Given the description of an element on the screen output the (x, y) to click on. 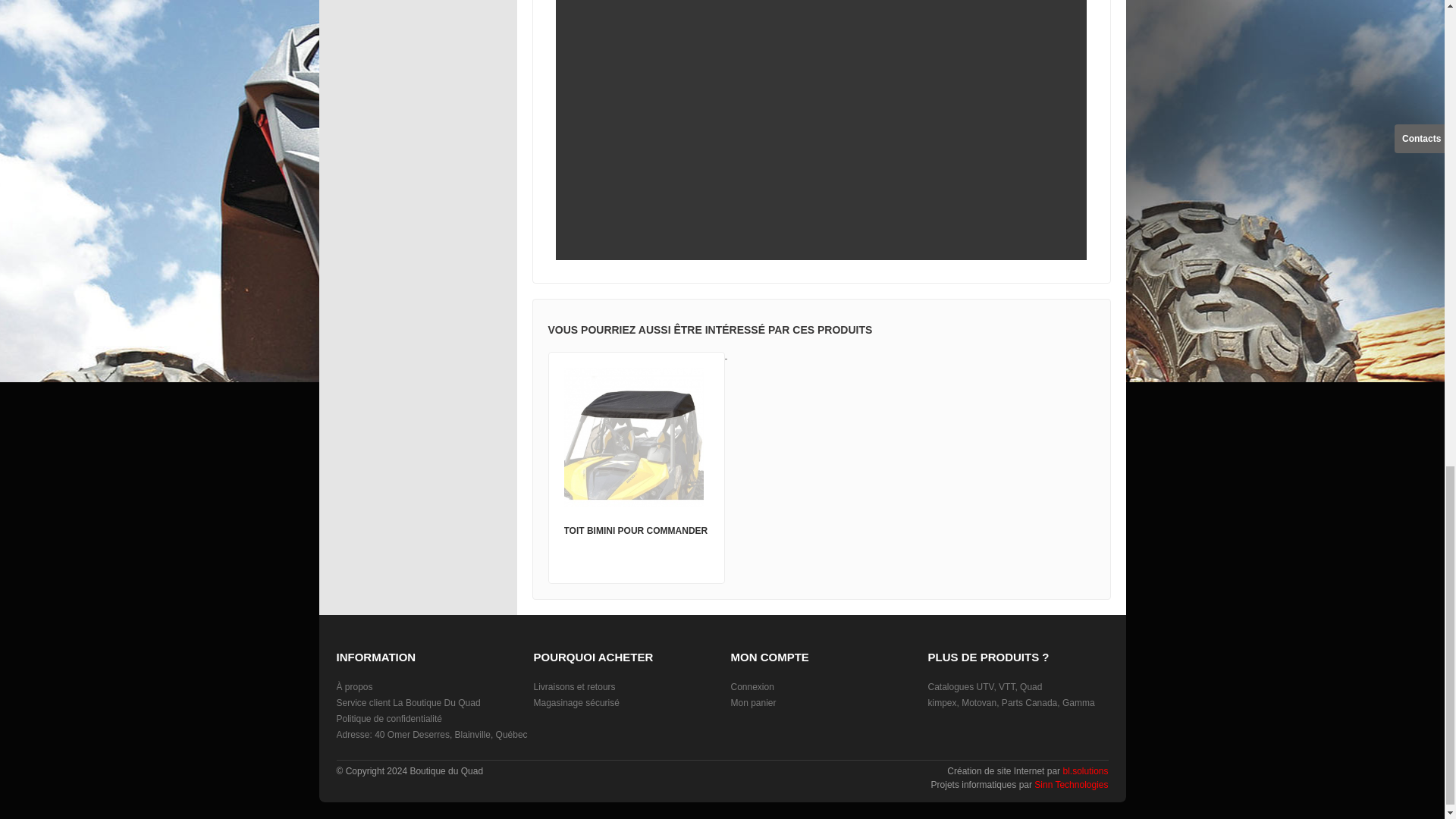
Toit bimini pour Commander   (635, 530)
Toit bimini pour Commander   (633, 436)
TOIT BIMINI POUR COMMANDER (635, 530)
Contact Us (431, 735)
